Given the description of an element on the screen output the (x, y) to click on. 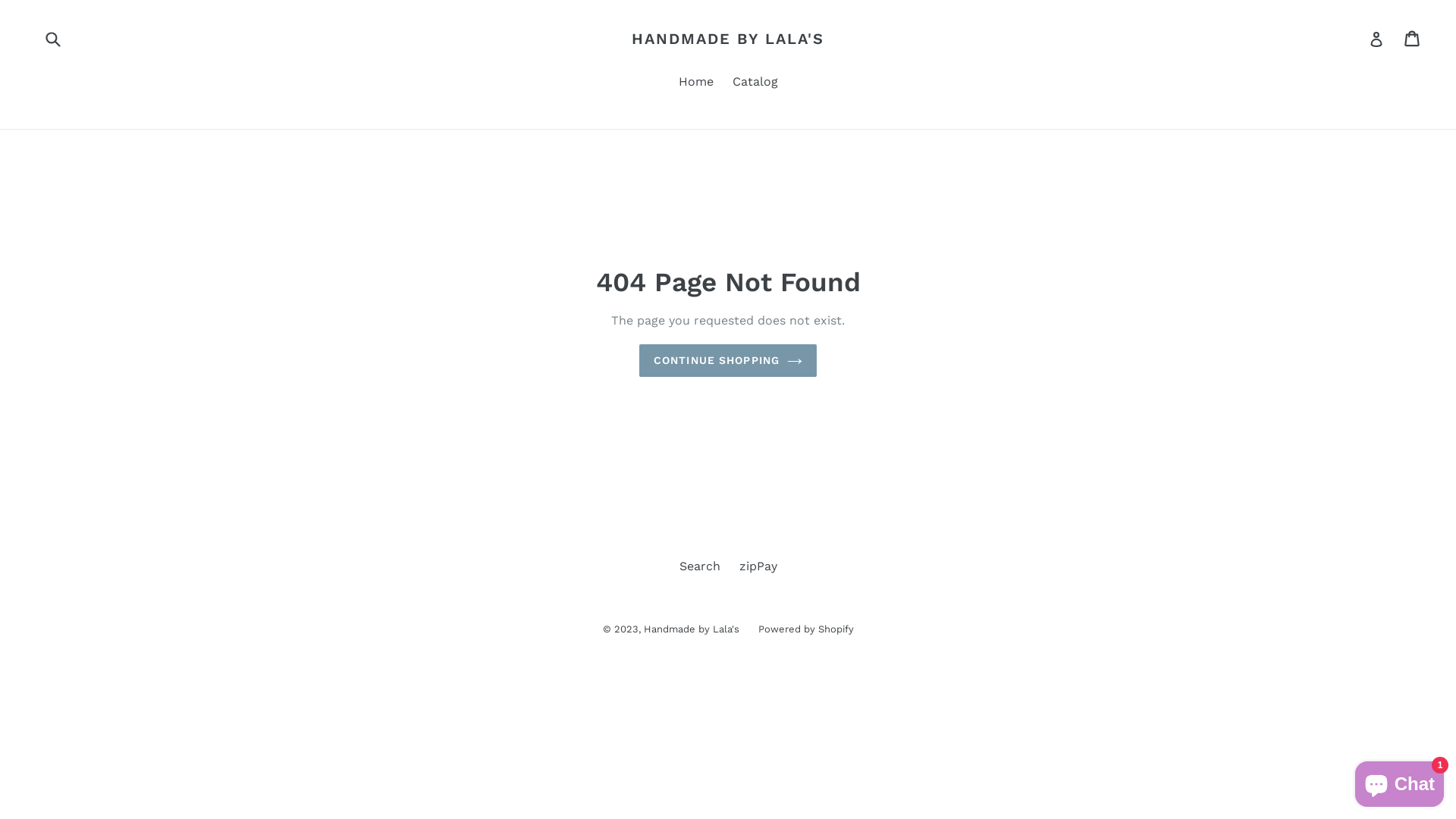
Catalog Element type: text (754, 82)
Shopify online store chat Element type: hover (1399, 780)
zipPay Element type: text (757, 565)
Handmade by Lala's Element type: text (690, 628)
HANDMADE BY LALA'S Element type: text (727, 38)
CONTINUE SHOPPING Element type: text (727, 360)
Log in Element type: text (1375, 38)
Submit Element type: text (51, 37)
Cart
Cart Element type: text (1412, 38)
Home Element type: text (695, 82)
Powered by Shopify Element type: text (805, 628)
Search Element type: text (699, 565)
